Given the description of an element on the screen output the (x, y) to click on. 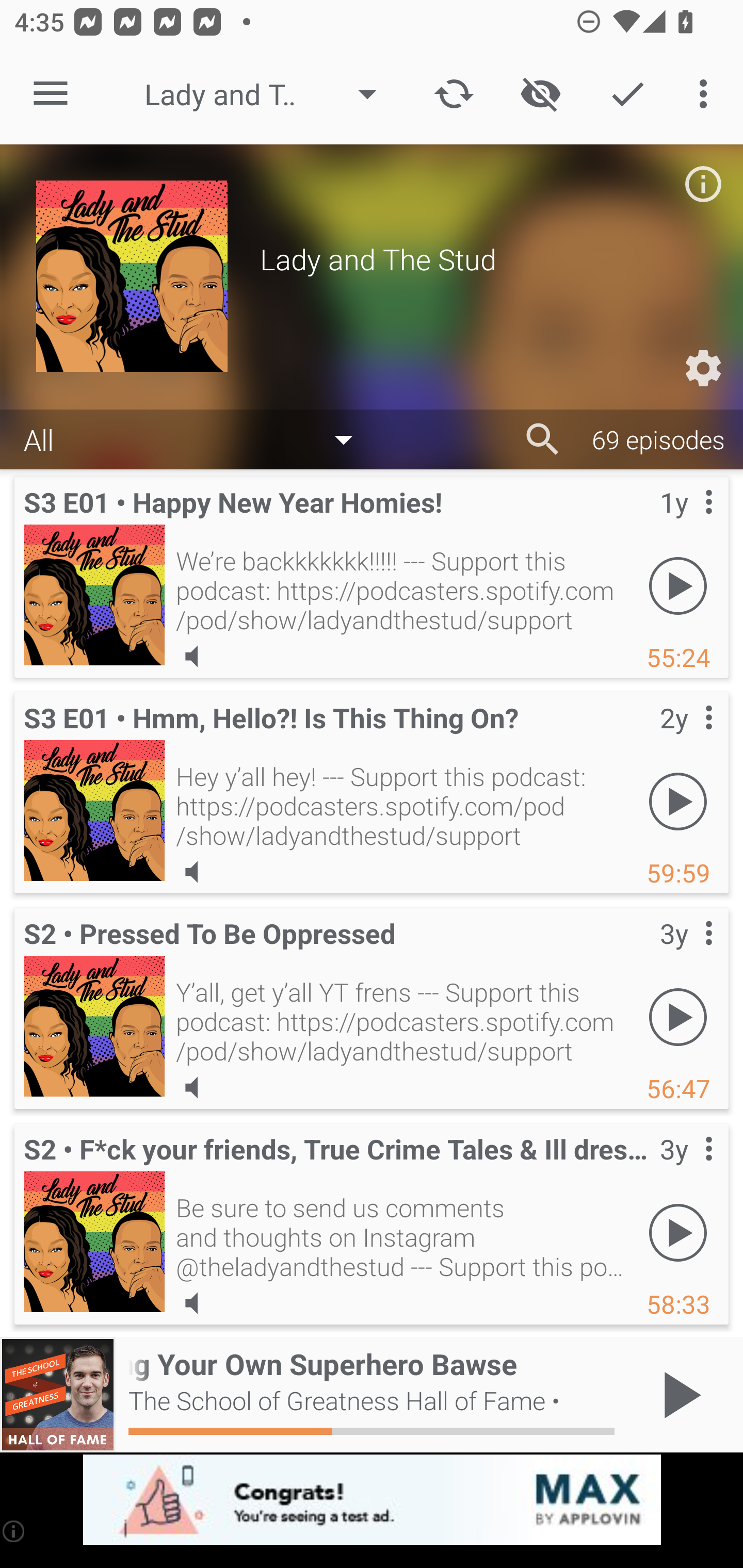
Open navigation sidebar (50, 93)
Update (453, 93)
Show / Hide played content (540, 93)
Action Mode (626, 93)
More options (706, 93)
Lady and The Stud (270, 94)
Podcast description (703, 184)
Custom Settings (703, 368)
Search (542, 439)
All (197, 438)
Contextual menu (685, 522)
Happy New Year Homies! (93, 594)
Play (677, 585)
Contextual menu (685, 738)
Hmm, Hello?! Is This Thing On? (93, 810)
Play (677, 801)
Contextual menu (685, 954)
Pressed To Be Oppressed (93, 1026)
Play (677, 1016)
Contextual menu (685, 1169)
Play (677, 1232)
Play / Pause (677, 1394)
app-monetization (371, 1500)
(i) (14, 1531)
